Given the description of an element on the screen output the (x, y) to click on. 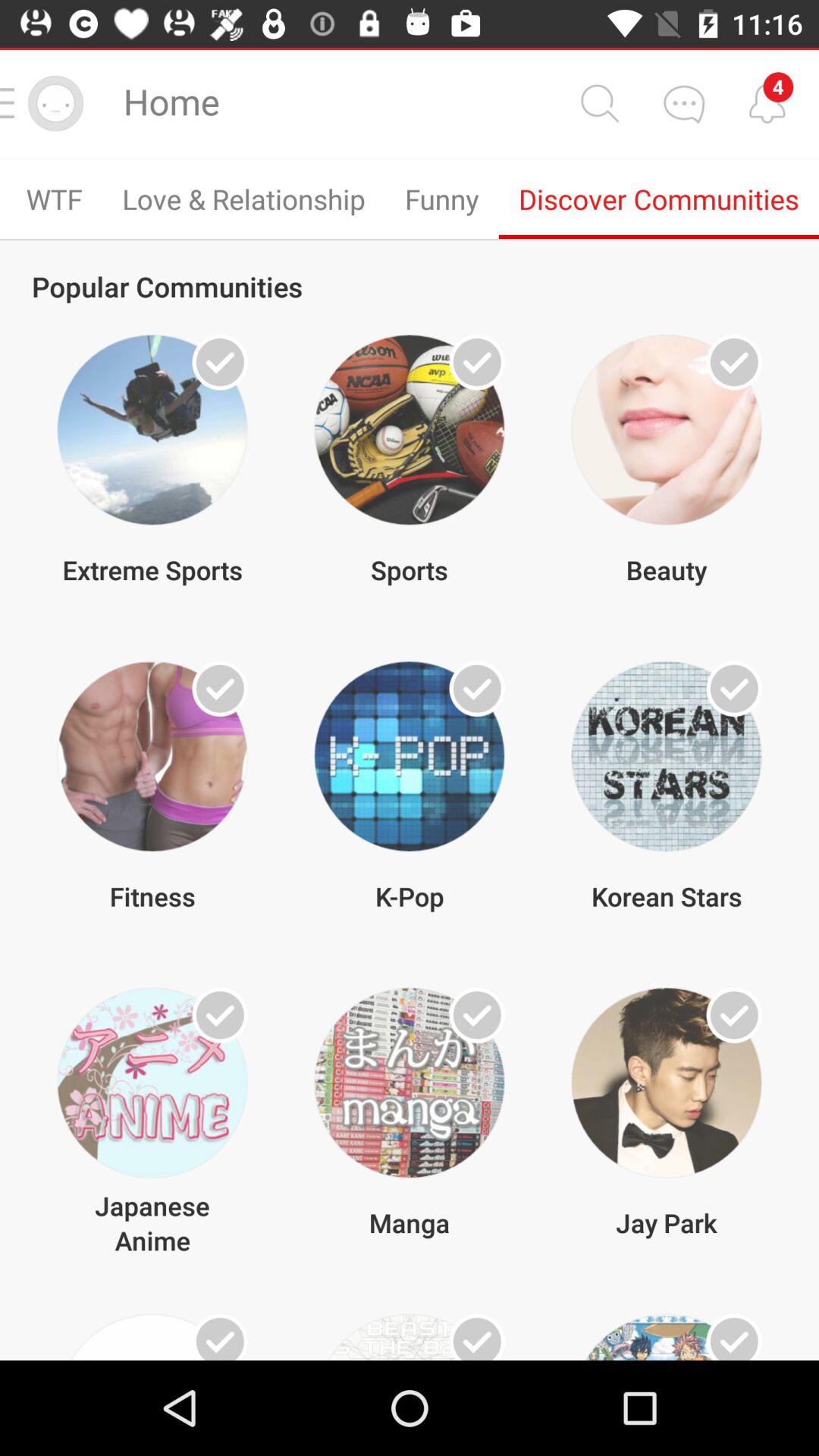
in-app search engine (599, 103)
